Given the description of an element on the screen output the (x, y) to click on. 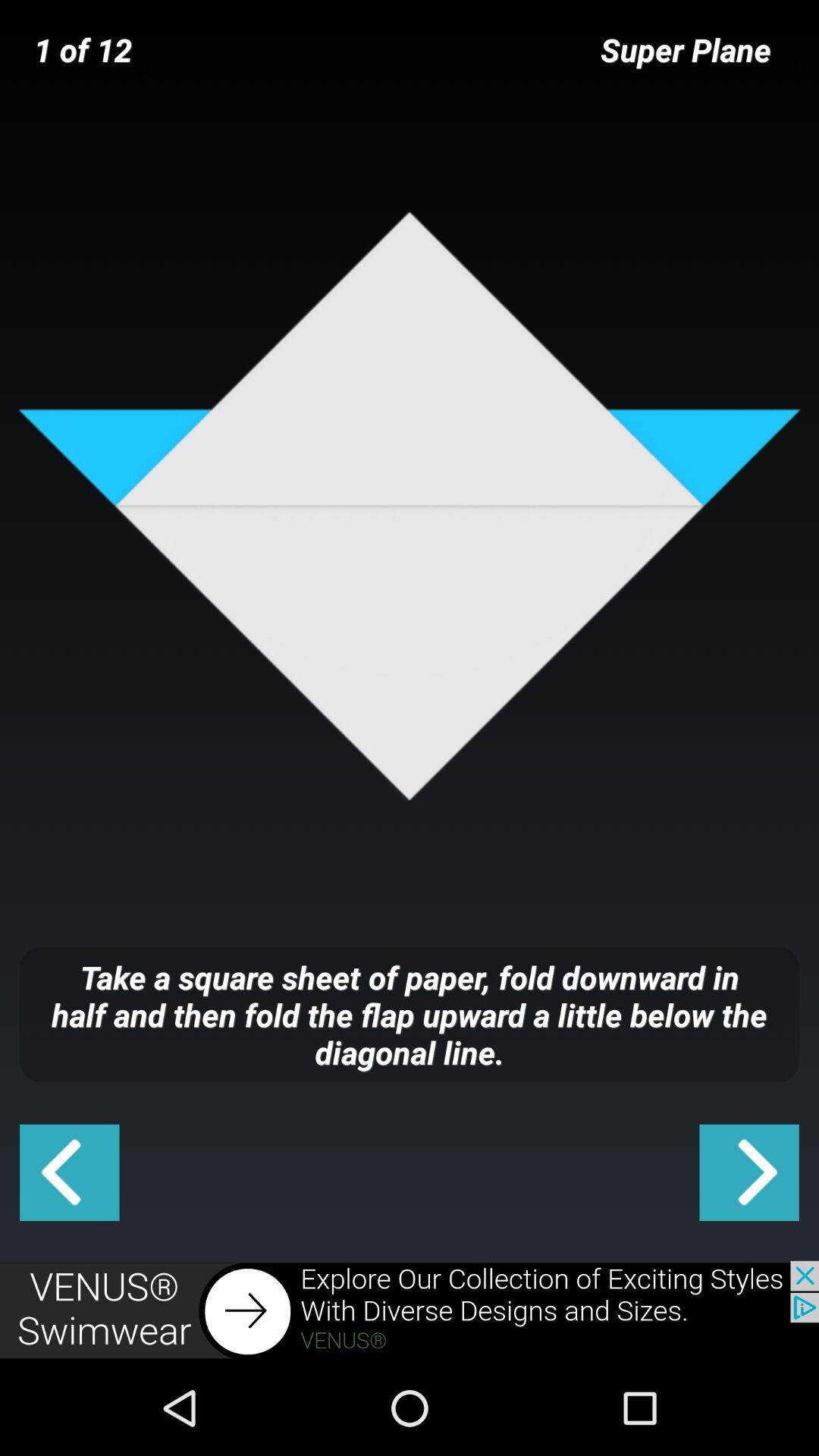
next button (749, 1172)
